Given the description of an element on the screen output the (x, y) to click on. 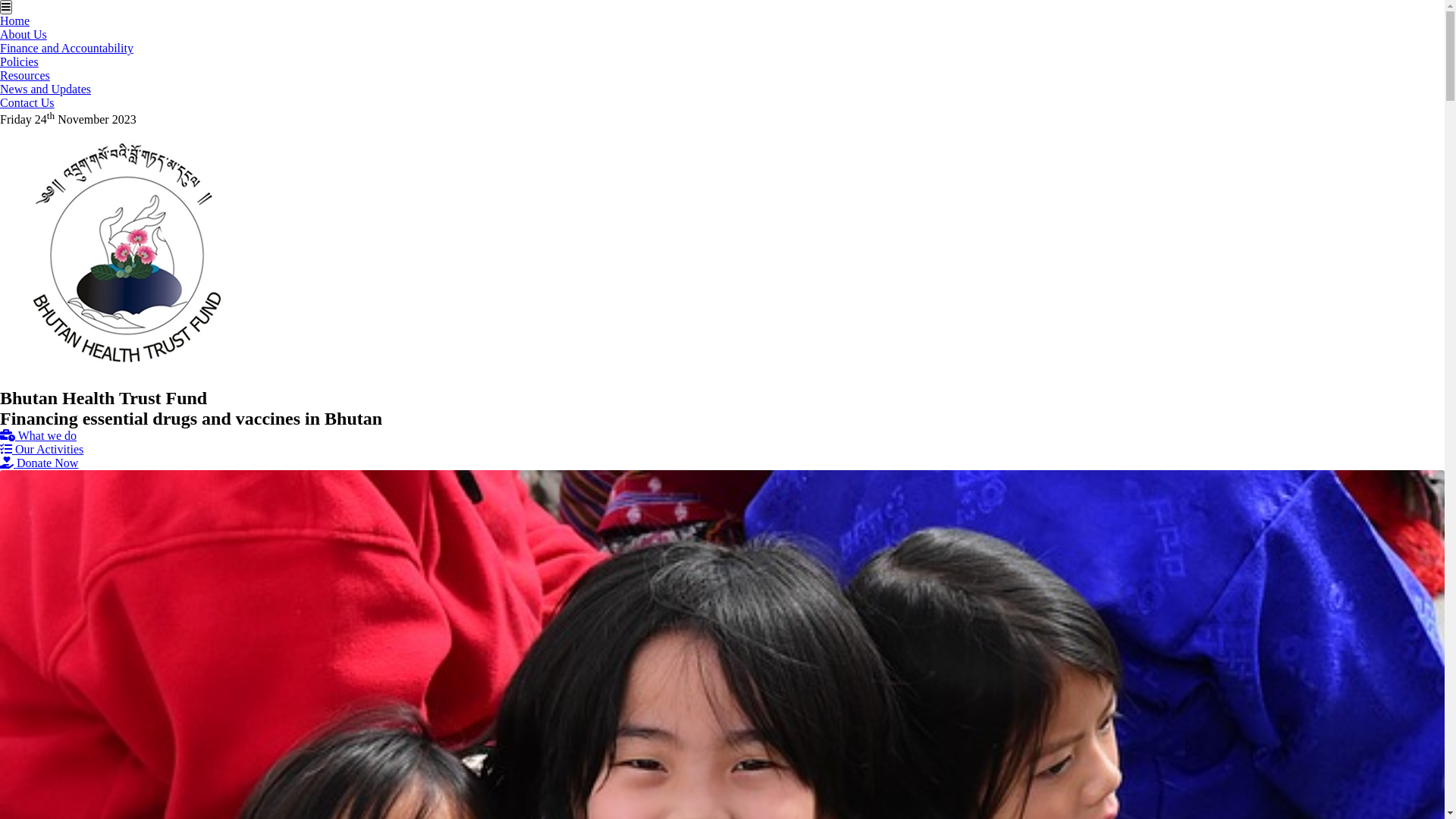
Donate Now Element type: text (39, 462)
News and Updates Element type: text (45, 88)
Policies Element type: text (19, 61)
Finance and Accountability Element type: text (66, 47)
Our Activities Element type: text (41, 448)
Home Element type: text (14, 20)
Contact Us Element type: text (27, 102)
What we do Element type: text (38, 435)
Resources Element type: text (25, 75)
About Us Element type: text (23, 34)
